Given the description of an element on the screen output the (x, y) to click on. 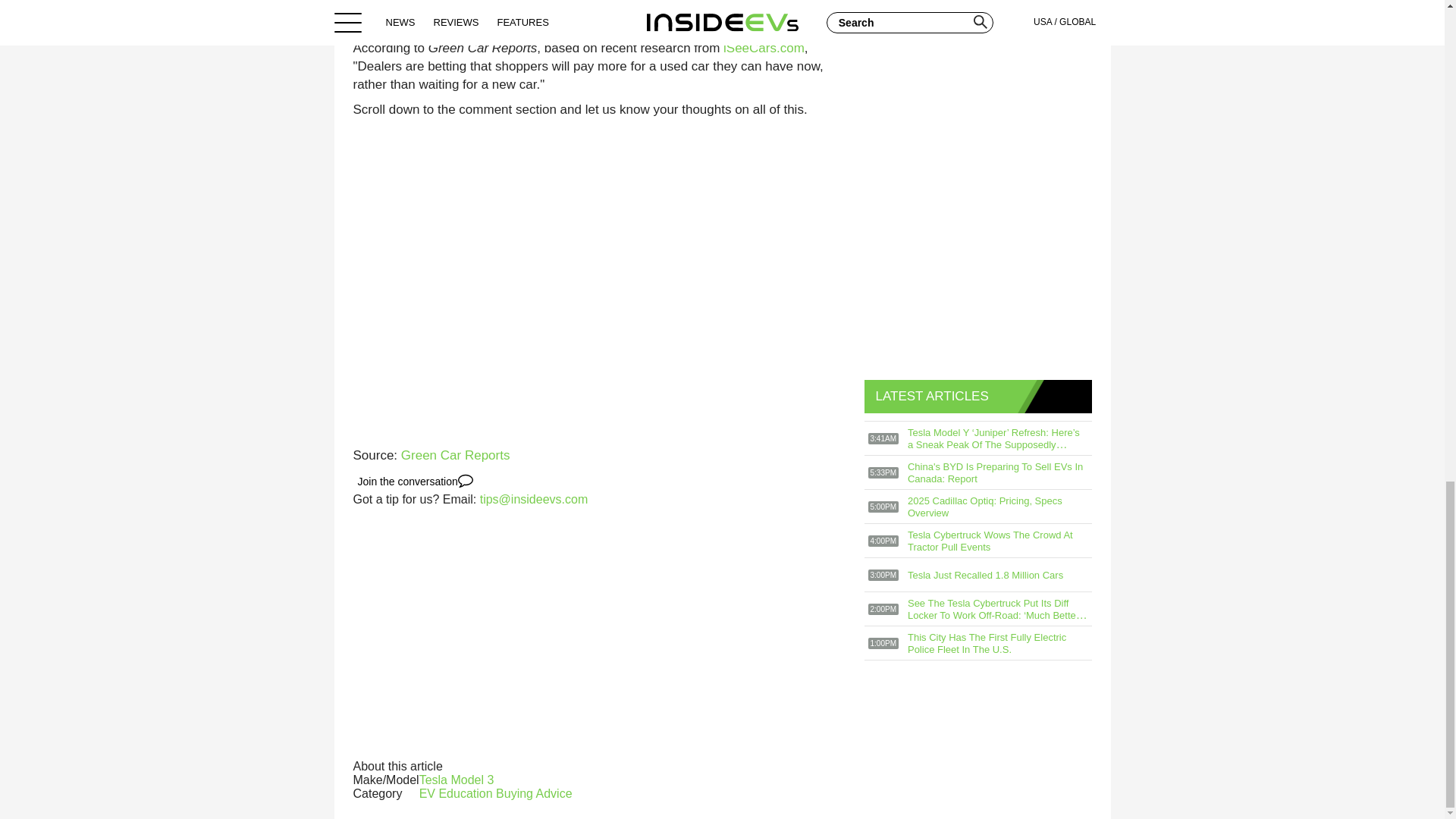
Green Car Reports (456, 454)
iSeeCars.com (764, 47)
Join the conversation (415, 481)
